Given the description of an element on the screen output the (x, y) to click on. 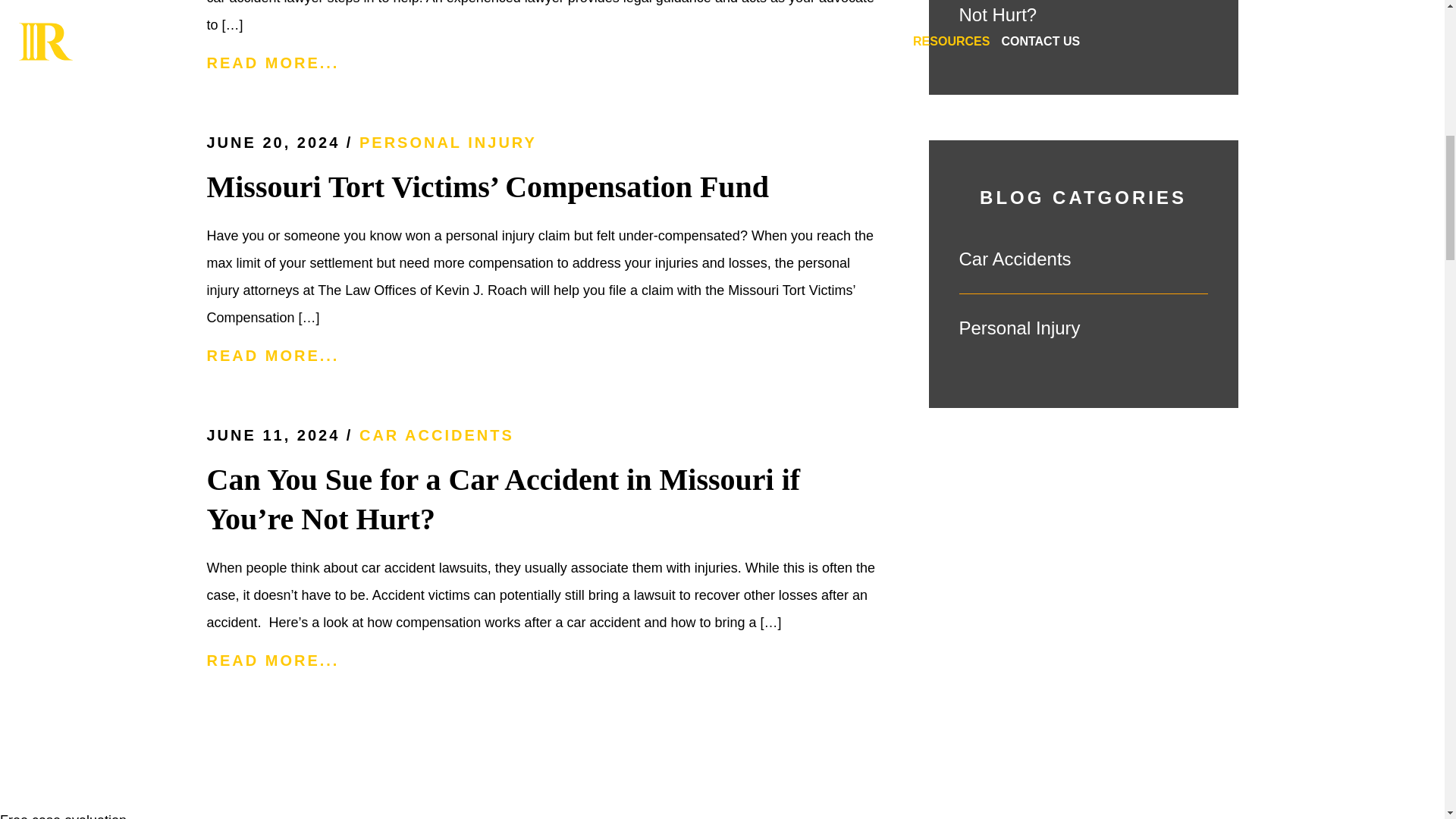
READ MORE... (541, 355)
READ MORE... (541, 660)
READ MORE... (541, 63)
CAR ACCIDENTS (436, 434)
PERSONAL INJURY (448, 142)
